Given the description of an element on the screen output the (x, y) to click on. 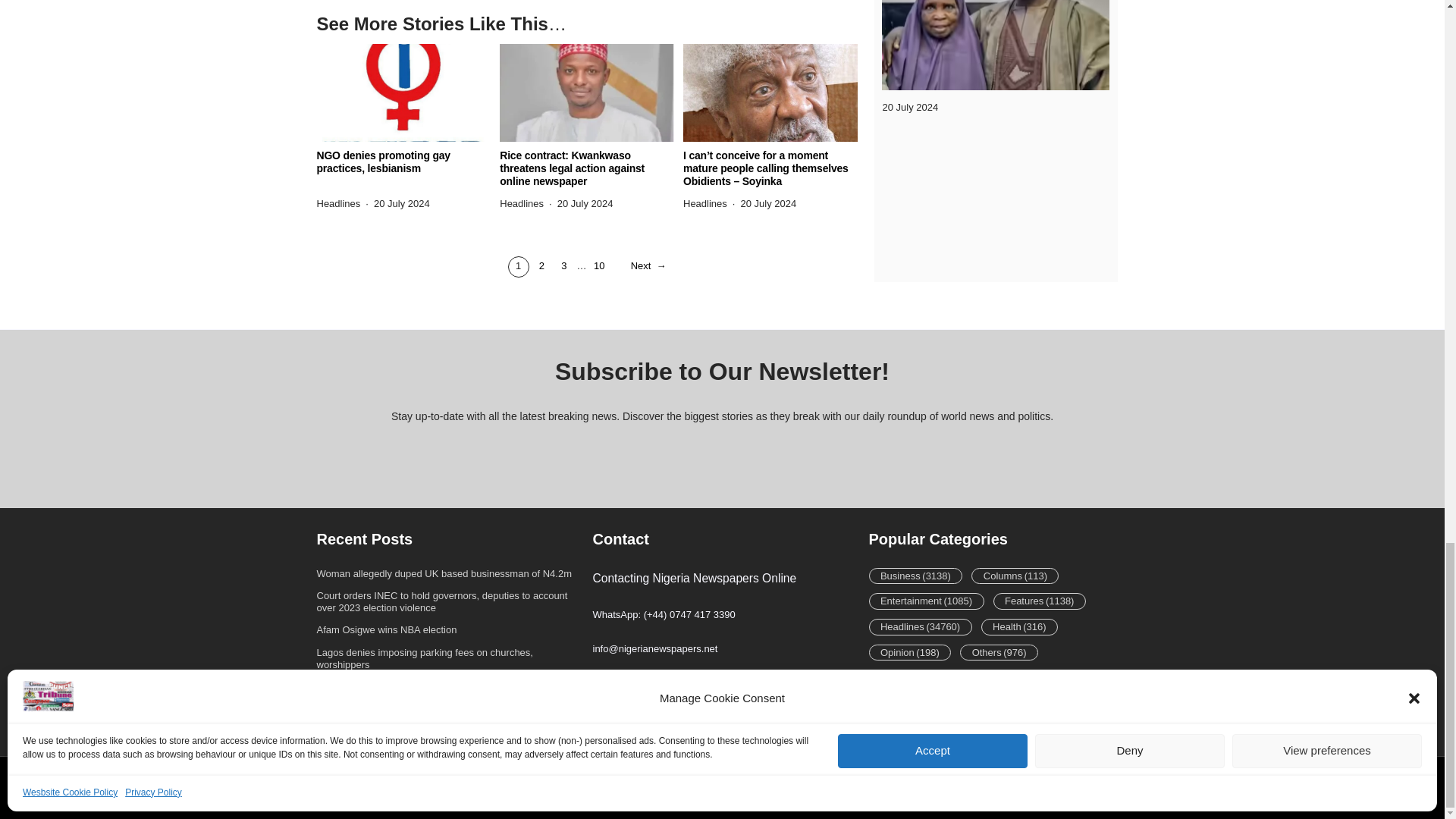
Headlines (521, 203)
Headlines (339, 203)
NGO denies promoting gay practices, lesbianism (404, 162)
